Given the description of an element on the screen output the (x, y) to click on. 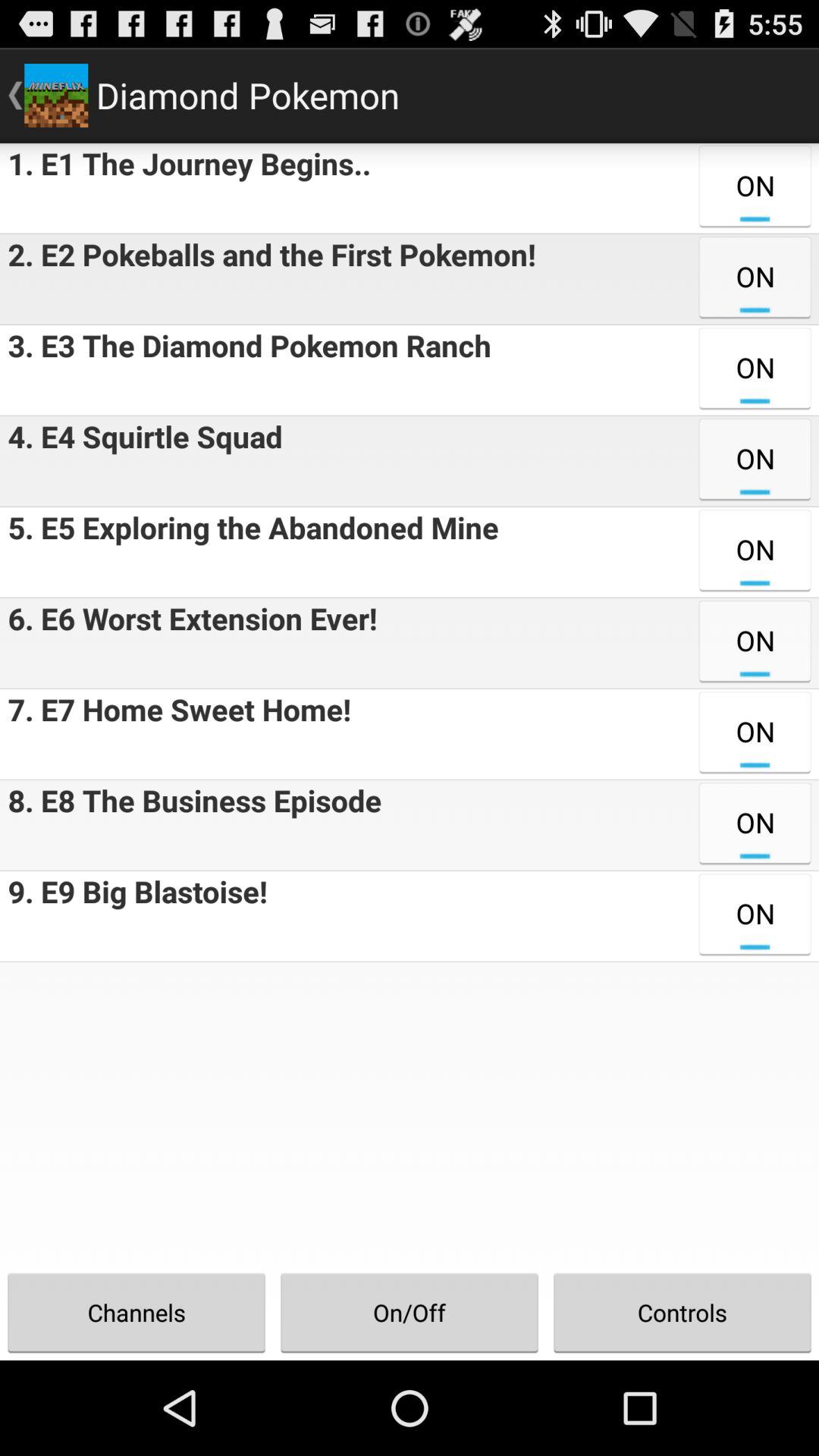
tap icon above 8 e8 the icon (175, 734)
